Given the description of an element on the screen output the (x, y) to click on. 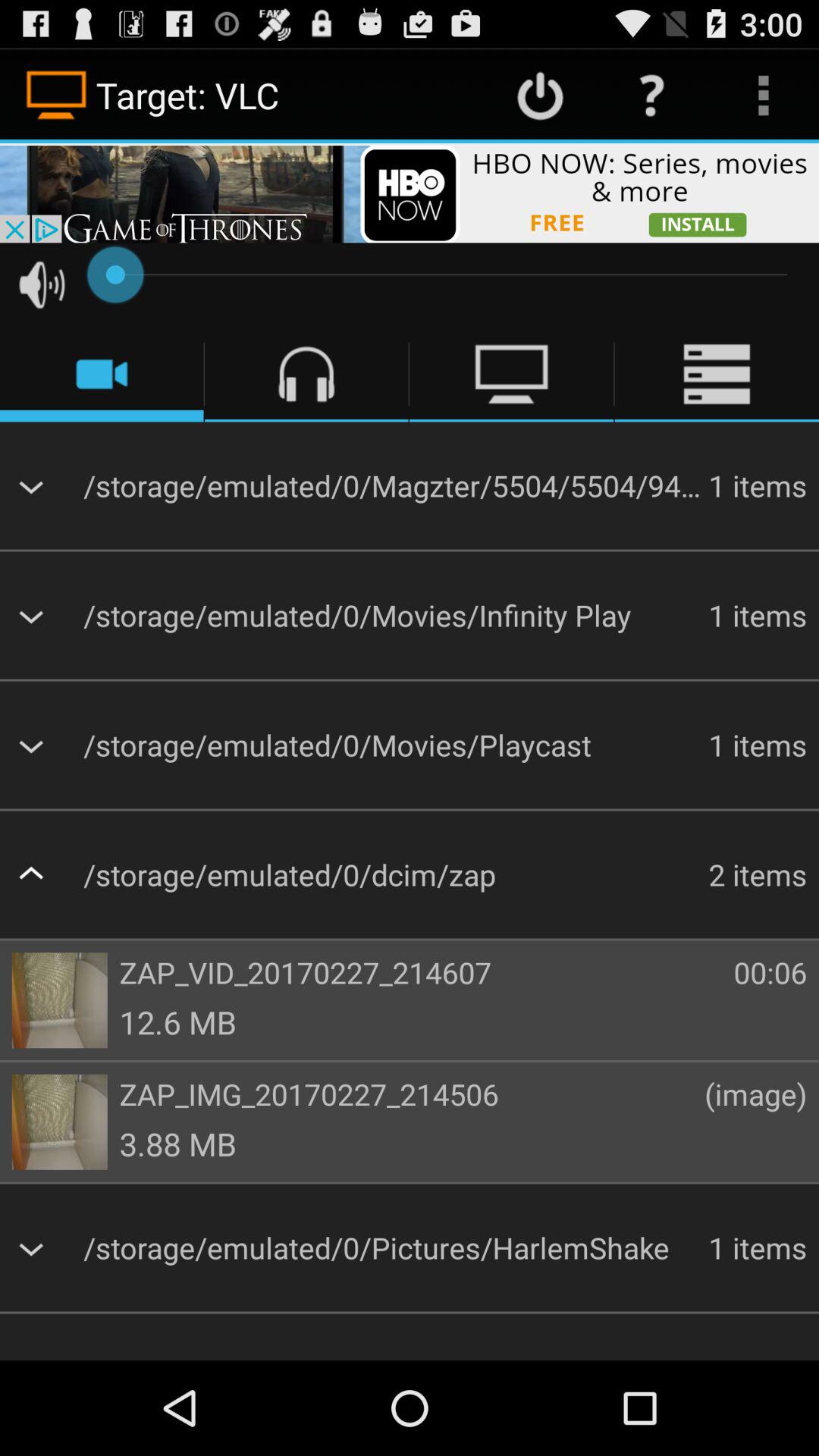
for advertisement (409, 192)
